Given the description of an element on the screen output the (x, y) to click on. 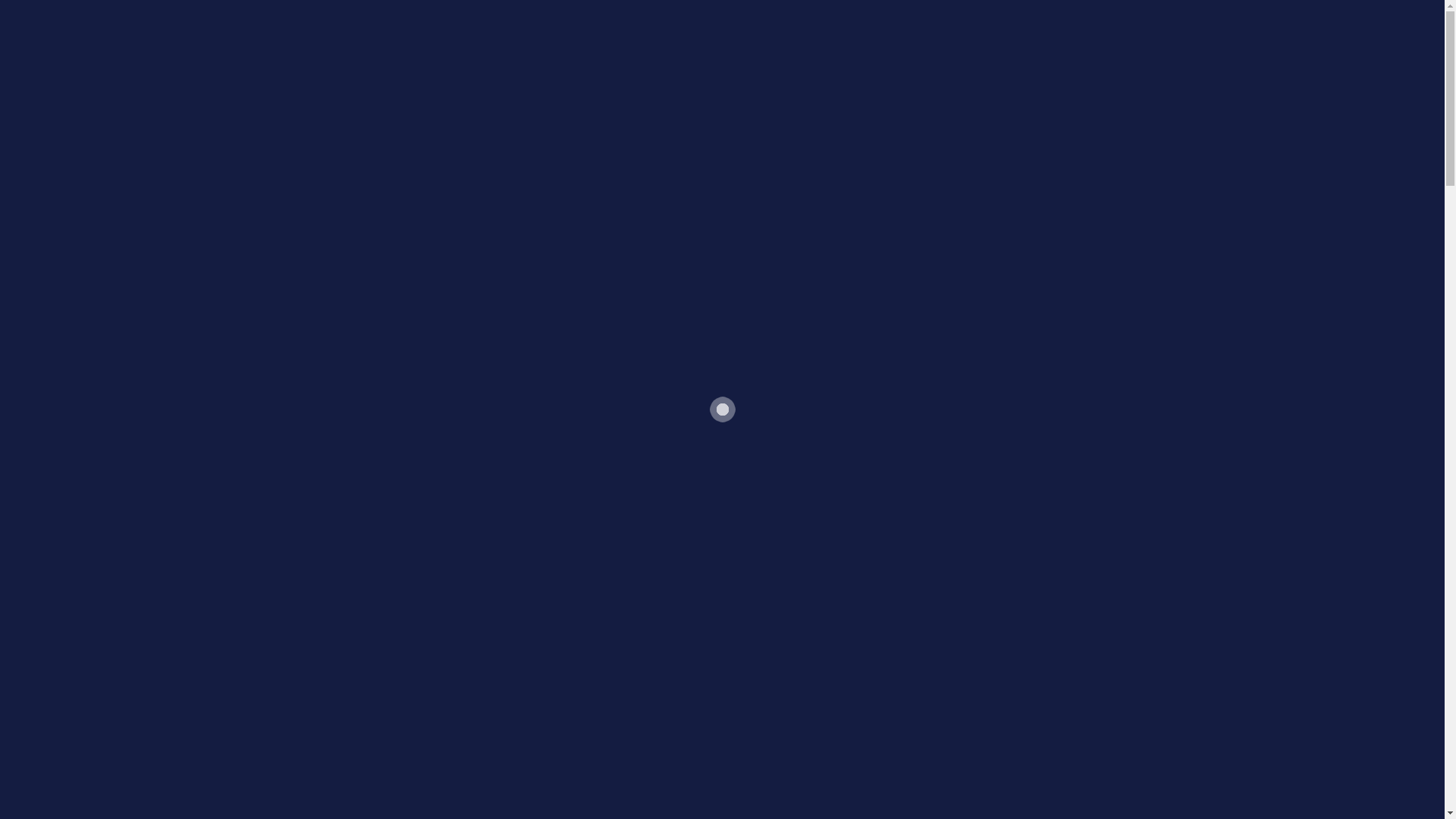
NIEUWS Element type: text (1007, 40)
NL Element type: text (1127, 9)
ENG Element type: text (1096, 9)
7 september 2023
EERSTE CLUBSHOW: ANA POPOVIC Element type: text (428, 275)
... Element type: text (1002, 809)
... Element type: text (512, 405)
GESCHIEDENIS Element type: text (1094, 40)
HOME Element type: text (945, 40)
TOYO TIRES Element type: text (403, 8)
25 mei 2023
KOM MET DE FIETS Element type: text (1004, 690)
